Given the description of an element on the screen output the (x, y) to click on. 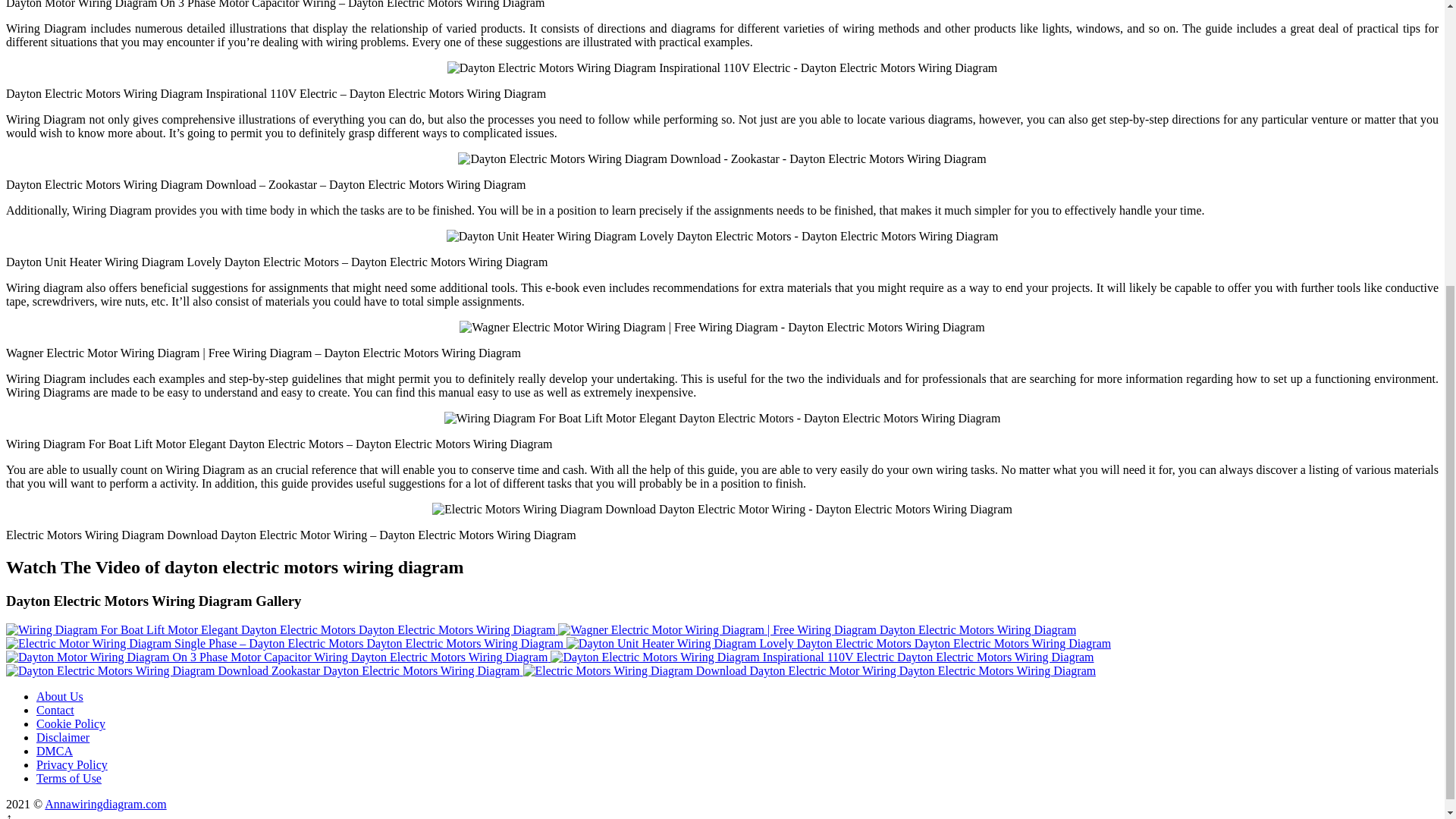
Cookie Policy (70, 723)
Disclaimer (62, 737)
About Us (59, 696)
Privacy Policy (71, 764)
Terms of Use (68, 778)
DMCA (54, 750)
Contact (55, 709)
